Given the description of an element on the screen output the (x, y) to click on. 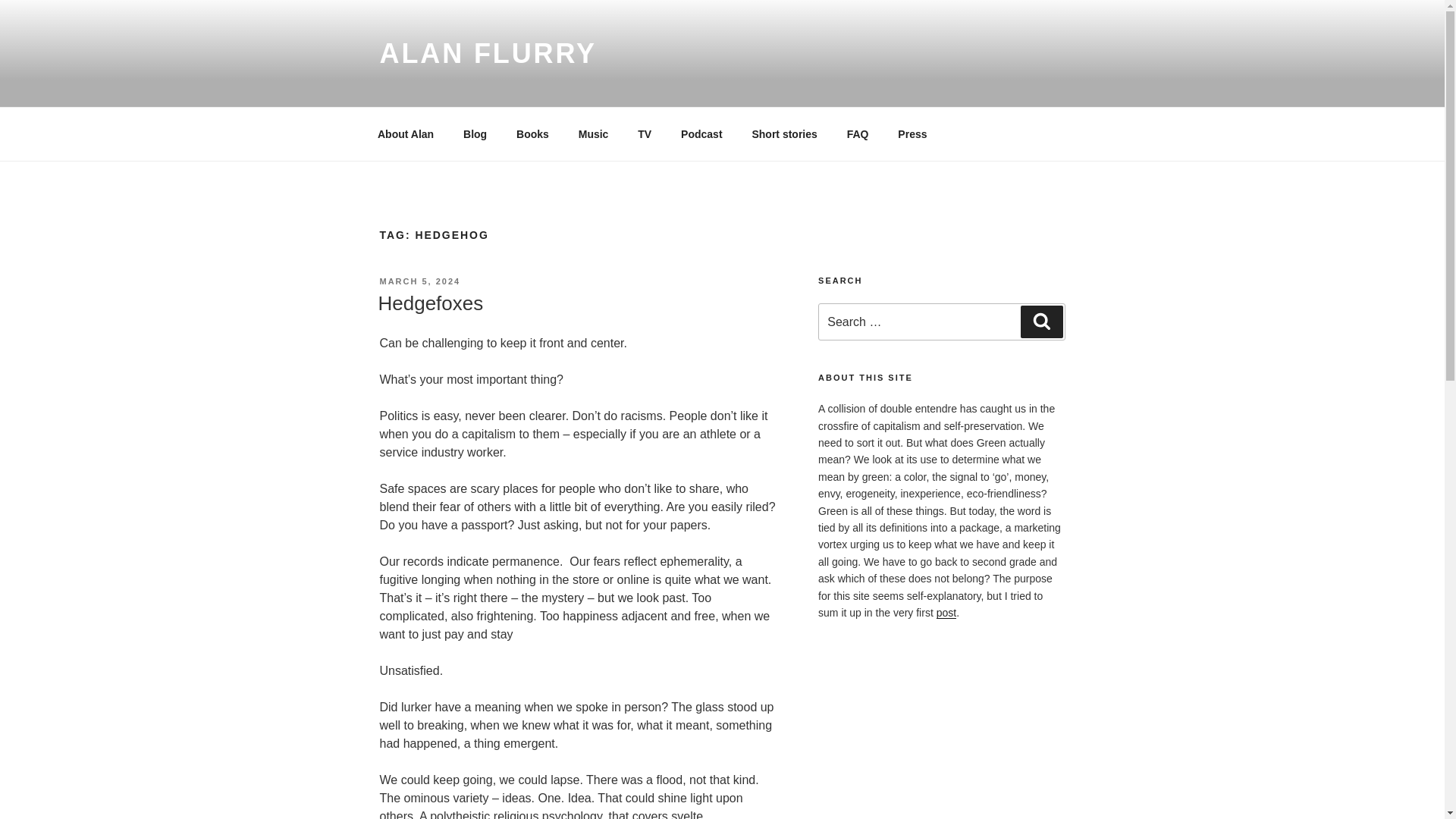
Music (592, 133)
Books (532, 133)
Hedgefoxes (430, 302)
Blog (474, 133)
Press (912, 133)
ALAN FLURRY (486, 52)
Search (1041, 321)
TV (644, 133)
Short stories (783, 133)
About Alan (405, 133)
post (946, 612)
MARCH 5, 2024 (419, 280)
Podcast (701, 133)
FAQ (857, 133)
